Given the description of an element on the screen output the (x, y) to click on. 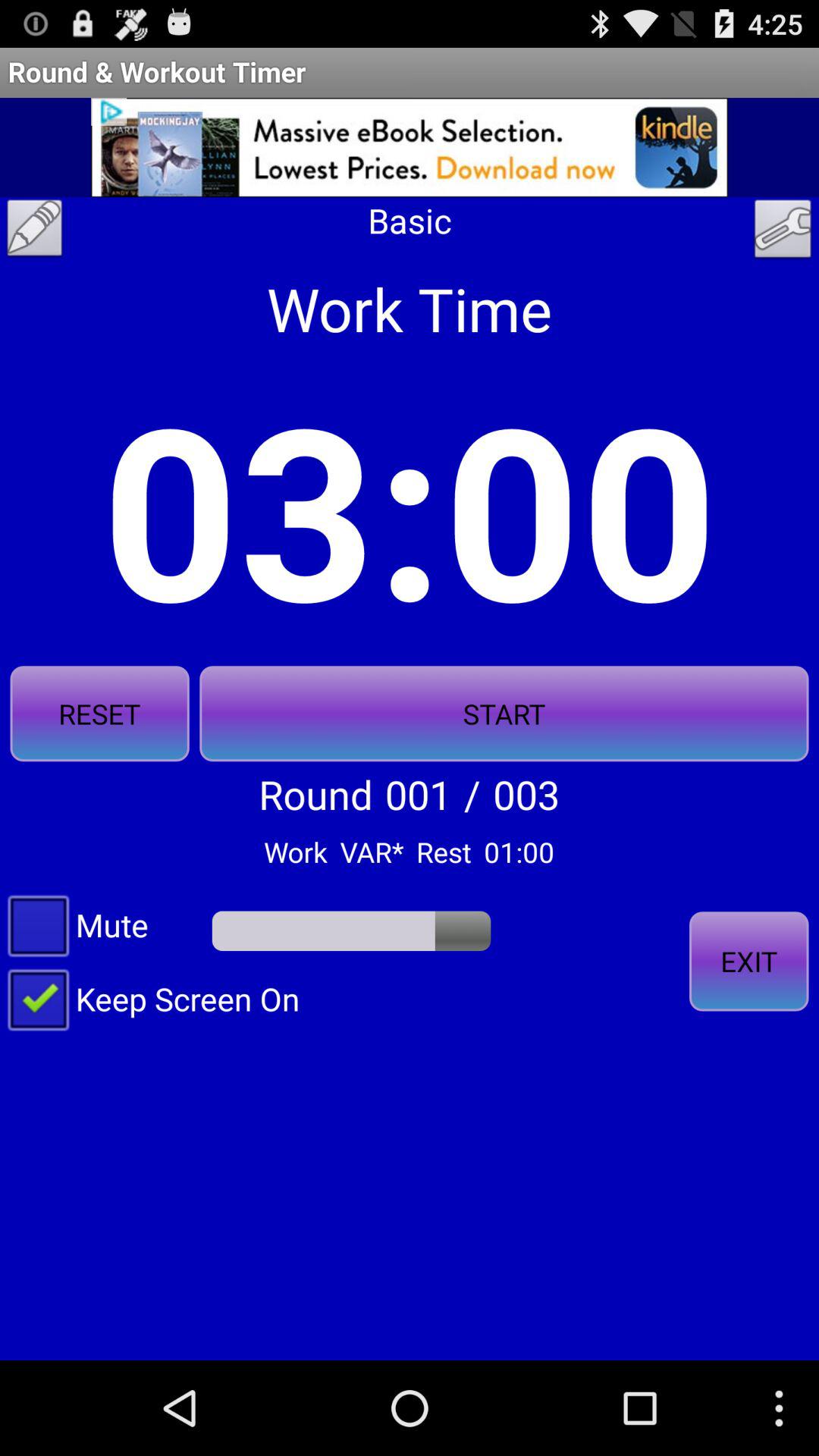
turn off keep screen on checkbox (149, 998)
